Given the description of an element on the screen output the (x, y) to click on. 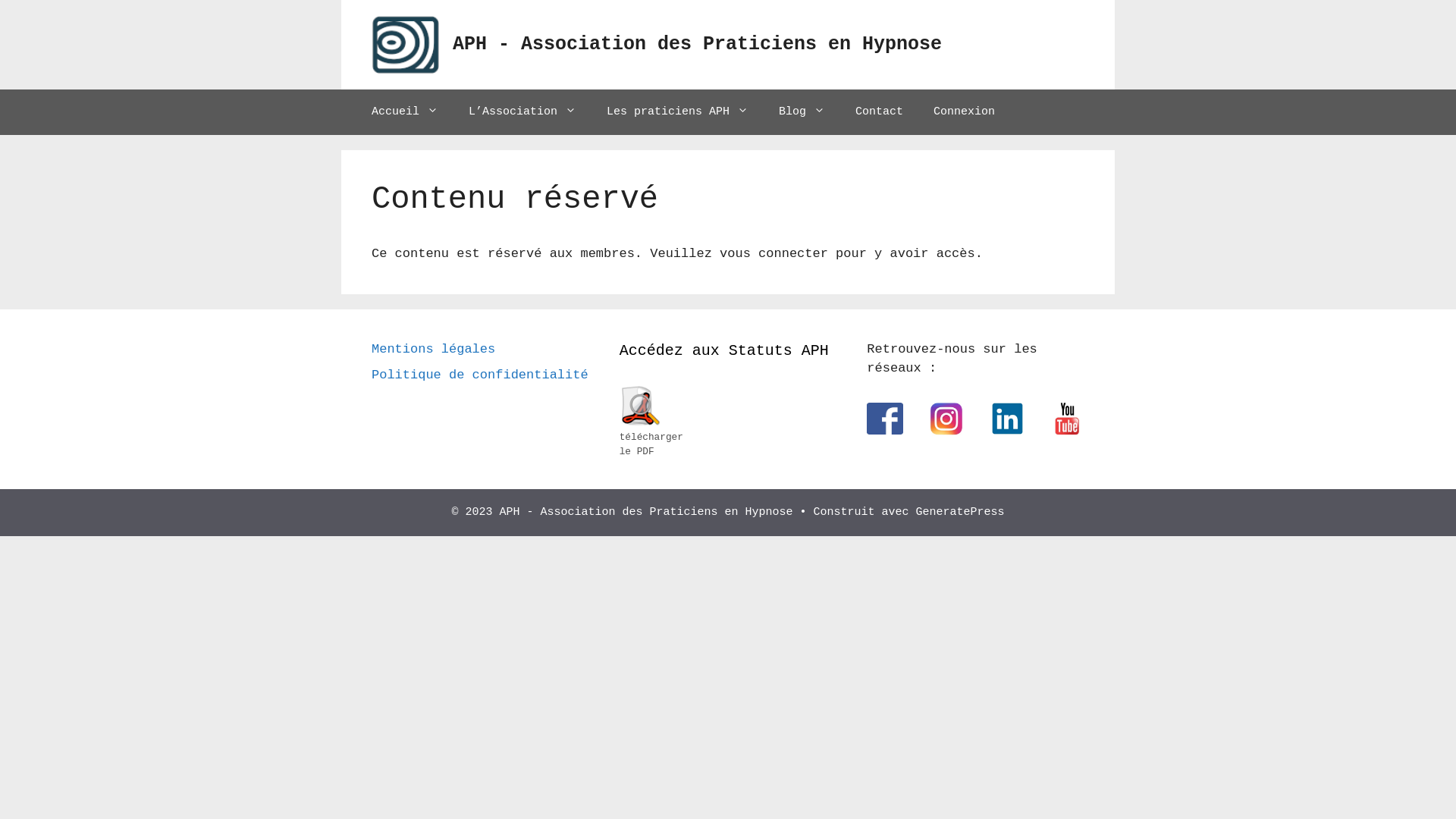
Les praticiens APH Element type: text (677, 111)
Blog Element type: text (801, 111)
APH - Association des Praticiens en Hypnose Element type: text (696, 44)
Connexion Element type: text (964, 111)
GeneratePress Element type: text (960, 511)
Contact Element type: text (879, 111)
Accueil Element type: text (404, 111)
